Given the description of an element on the screen output the (x, y) to click on. 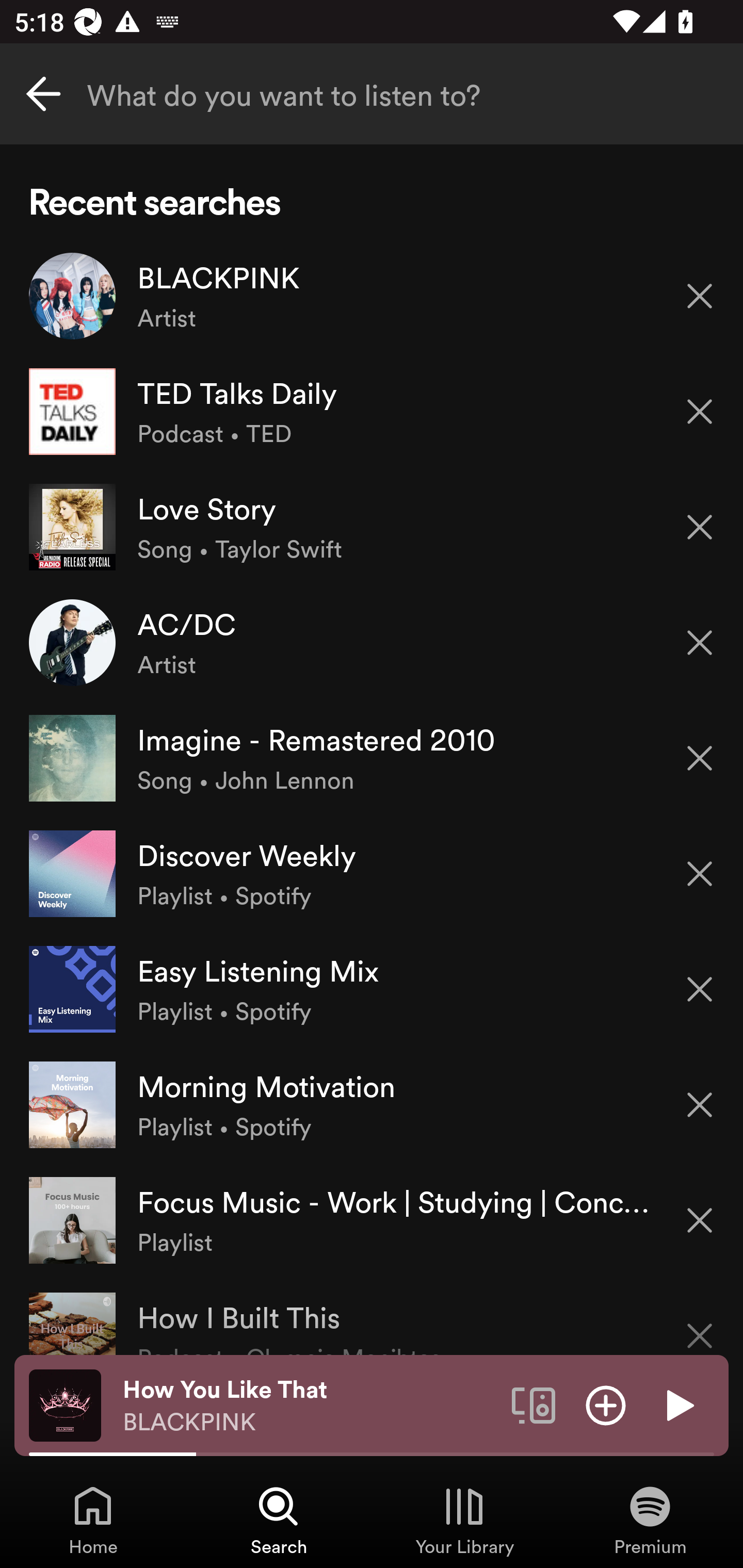
What do you want to listen to? (371, 93)
Cancel (43, 93)
BLACKPINK Artist Remove (371, 296)
Remove (699, 295)
TED Talks Daily Podcast • TED Remove (371, 411)
Remove (699, 411)
Love Story Song • Taylor Swift Remove (371, 526)
Remove (699, 527)
AC/DC Artist Remove (371, 642)
Remove (699, 642)
Remove (699, 758)
Discover Weekly Playlist • Spotify Remove (371, 873)
Remove (699, 874)
Easy Listening Mix Playlist • Spotify Remove (371, 989)
Remove (699, 989)
Morning Motivation Playlist • Spotify Remove (371, 1104)
Remove (699, 1104)
Remove (699, 1220)
Remove (699, 1323)
How You Like That BLACKPINK (309, 1405)
The cover art of the currently playing track (64, 1404)
Connect to a device. Opens the devices menu (533, 1404)
Add item (605, 1404)
Play (677, 1404)
Home, Tab 1 of 4 Home Home (92, 1519)
Search, Tab 2 of 4 Search Search (278, 1519)
Your Library, Tab 3 of 4 Your Library Your Library (464, 1519)
Premium, Tab 4 of 4 Premium Premium (650, 1519)
